Given the description of an element on the screen output the (x, y) to click on. 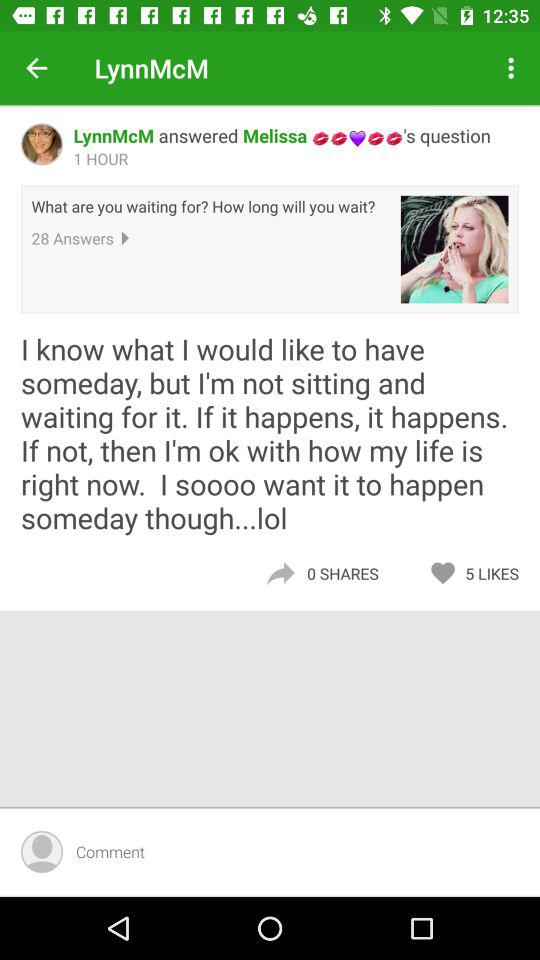
press the icon next to lynnmcm (36, 68)
